Given the description of an element on the screen output the (x, y) to click on. 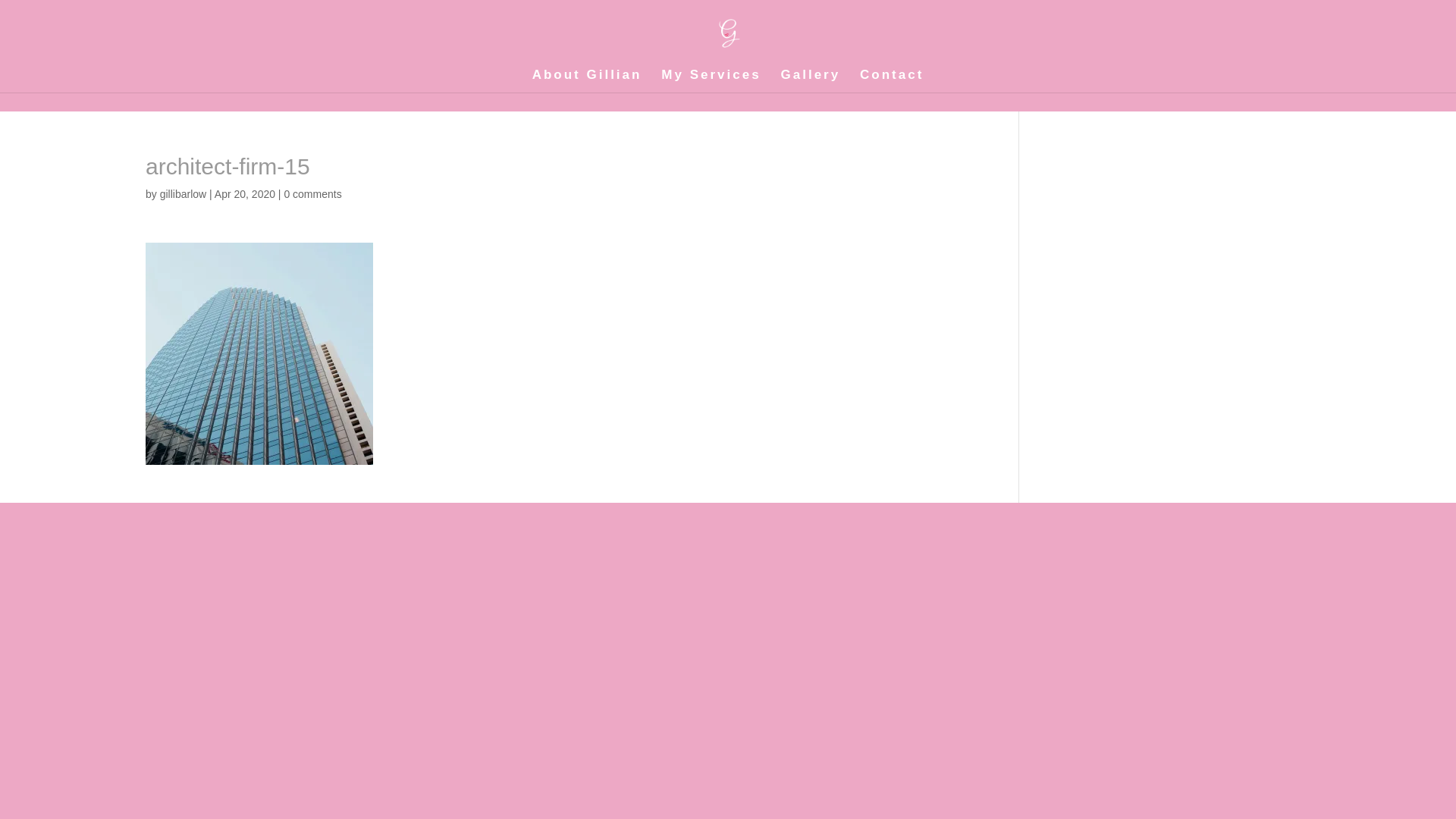
My Services Element type: text (710, 80)
Gallery Element type: text (810, 80)
0 comments Element type: text (312, 194)
gillibarlow Element type: text (183, 194)
About Gillian Element type: text (587, 80)
Contact Element type: text (891, 80)
